Given the description of an element on the screen output the (x, y) to click on. 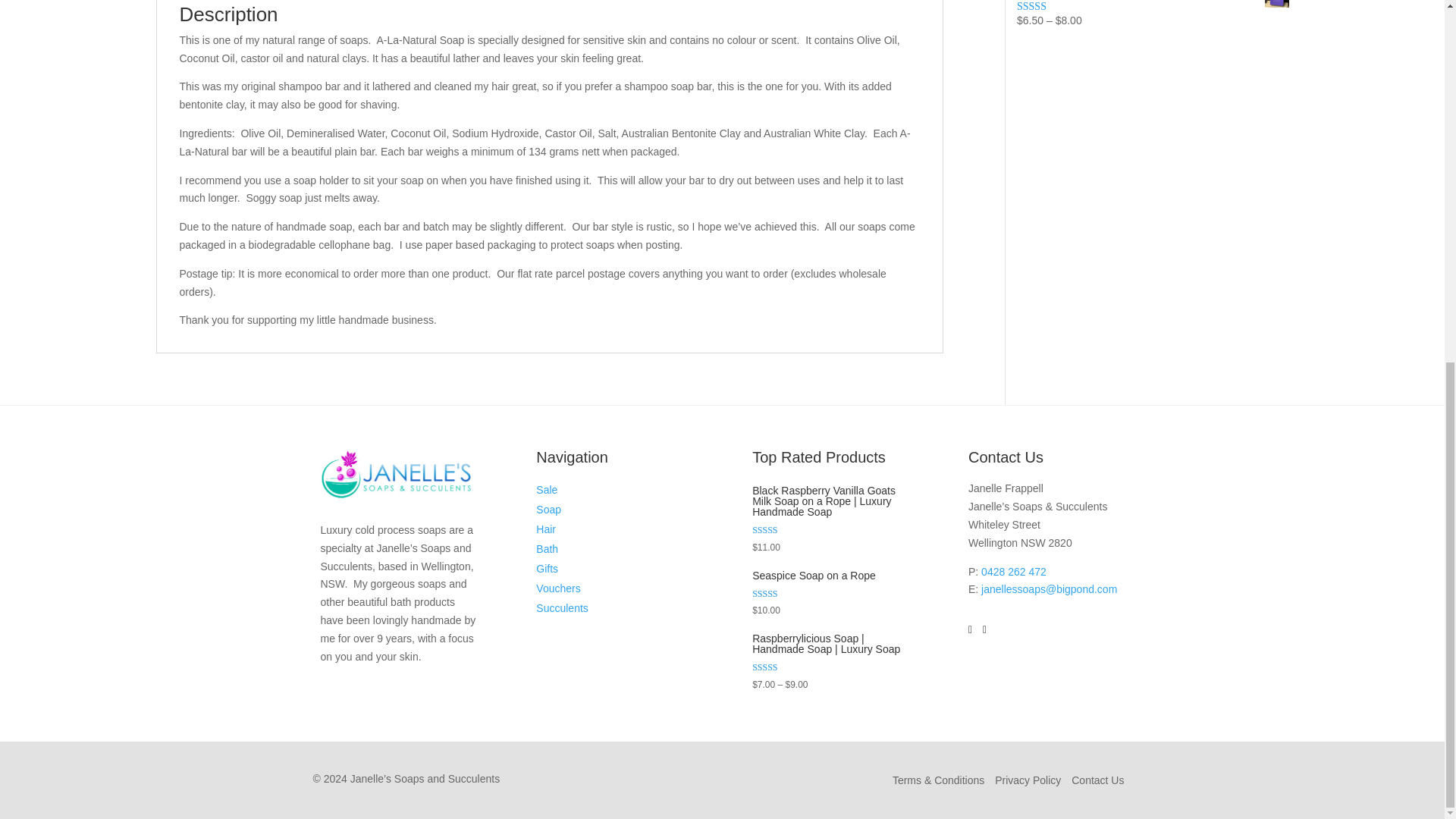
janelles-soaps-and-succulents (395, 473)
